Given the description of an element on the screen output the (x, y) to click on. 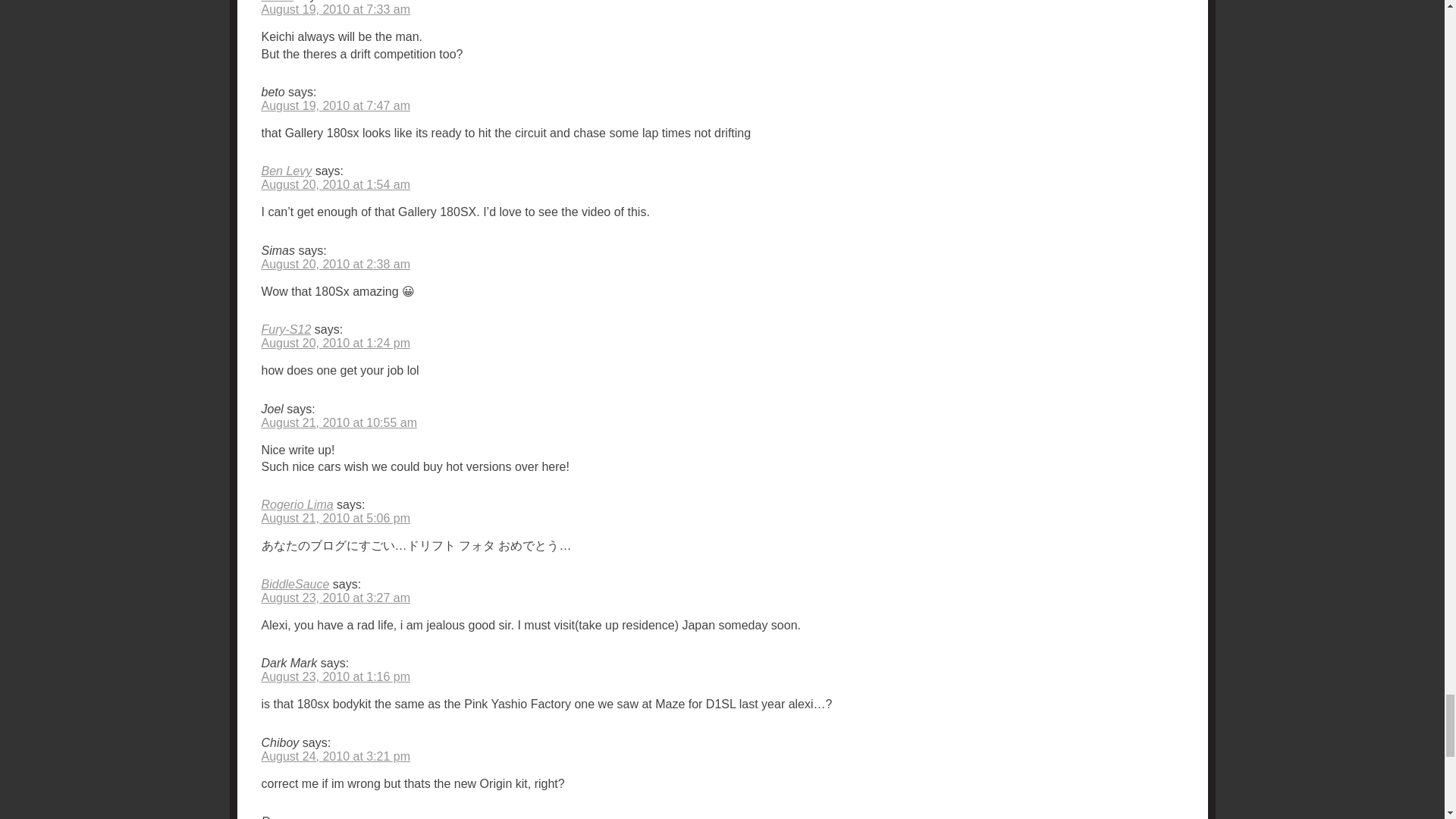
BiddleSauce (294, 584)
Ben Levy (285, 170)
August 21, 2010 at 10:55 am (338, 422)
Fury-S12 (285, 328)
Nama (277, 1)
August 23, 2010 at 1:16 pm (335, 676)
August 21, 2010 at 5:06 pm (335, 517)
August 24, 2010 at 3:21 pm (335, 756)
Rogerio Lima (296, 504)
August 20, 2010 at 1:54 am (335, 184)
